Given the description of an element on the screen output the (x, y) to click on. 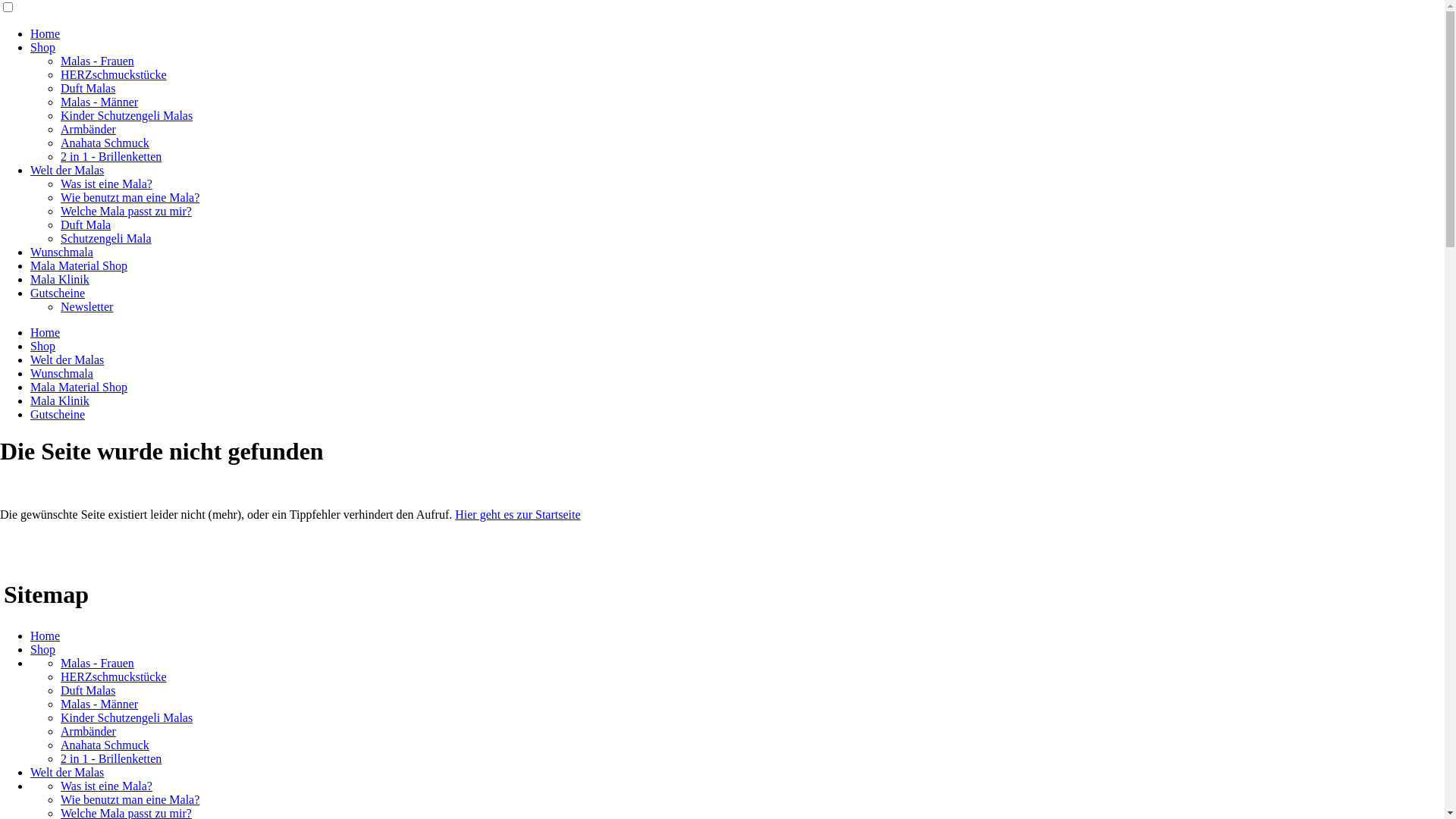
Home Element type: text (44, 332)
Kinder Schutzengeli Malas Element type: text (126, 717)
Shop Element type: text (42, 46)
Welt der Malas Element type: text (66, 169)
Home Element type: text (44, 635)
Wunschmala Element type: text (61, 251)
Gutscheine Element type: text (57, 292)
Newsletter Element type: text (86, 306)
Duft Malas Element type: text (87, 87)
Mala Klinik Element type: text (59, 279)
Duft Mala Element type: text (85, 224)
2 in 1 - Brillenketten Element type: text (110, 156)
Schutzengeli Mala Element type: text (105, 238)
Kinder Schutzengeli Malas Element type: text (126, 115)
2 in 1 - Brillenketten Element type: text (110, 758)
Malas - Frauen Element type: text (97, 60)
Shop Element type: text (42, 345)
Hier geht es zur Startseite Element type: text (517, 514)
Malas - Frauen Element type: text (97, 662)
Home Element type: text (44, 33)
Mala Material Shop Element type: text (78, 386)
Mala Klinik Element type: text (59, 400)
Shop Element type: text (42, 649)
Wie benutzt man eine Mala? Element type: text (129, 799)
Welt der Malas Element type: text (66, 359)
Welche Mala passt zu mir? Element type: text (125, 210)
Wie benutzt man eine Mala? Element type: text (129, 197)
Duft Malas Element type: text (87, 690)
Welt der Malas Element type: text (66, 771)
Mala Material Shop Element type: text (78, 265)
Was ist eine Mala? Element type: text (106, 785)
Anahata Schmuck Element type: text (104, 142)
Gutscheine Element type: text (57, 413)
Was ist eine Mala? Element type: text (106, 183)
Anahata Schmuck Element type: text (104, 744)
Wunschmala Element type: text (61, 373)
